Given the description of an element on the screen output the (x, y) to click on. 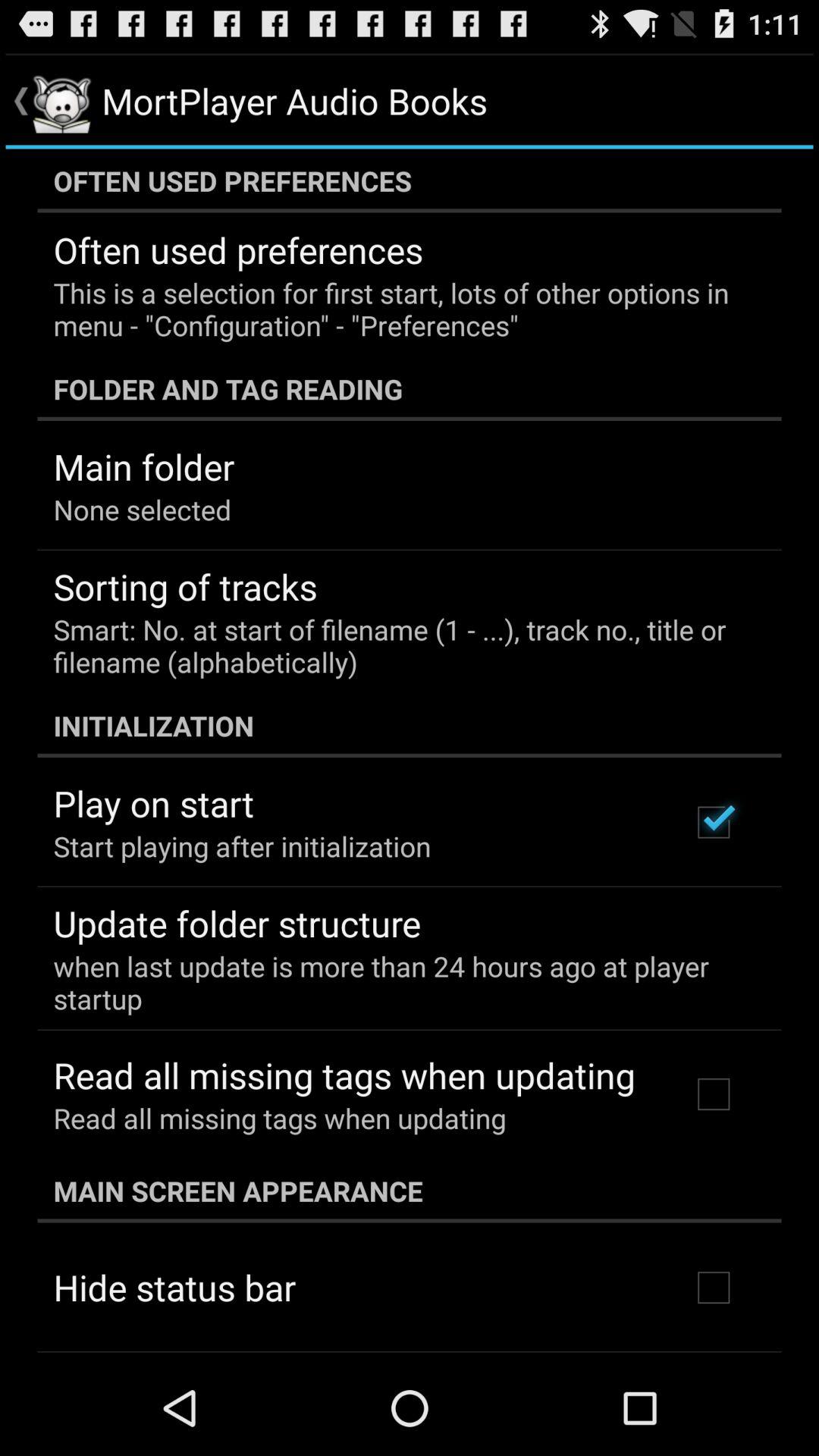
launch the hide status bar icon (174, 1287)
